Given the description of an element on the screen output the (x, y) to click on. 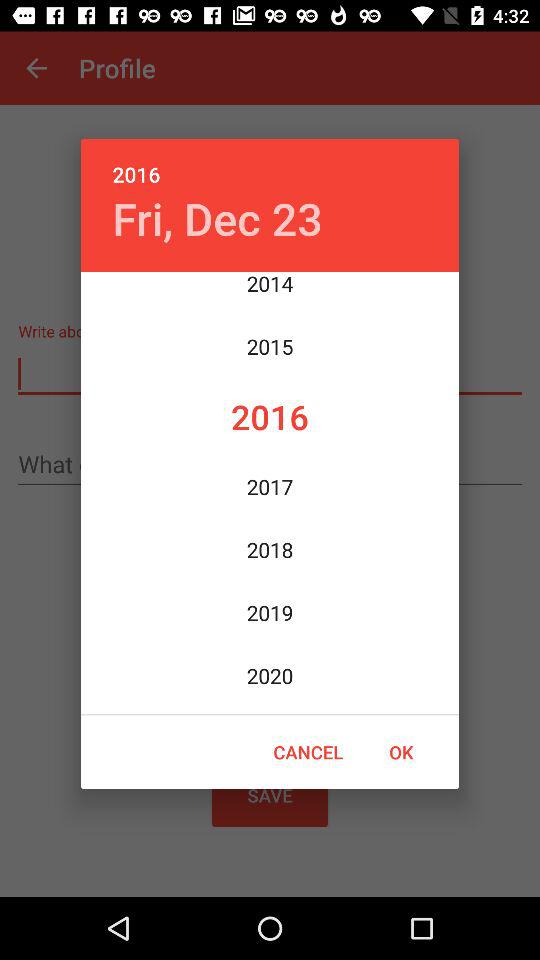
turn off icon next to the ok icon (308, 751)
